Given the description of an element on the screen output the (x, y) to click on. 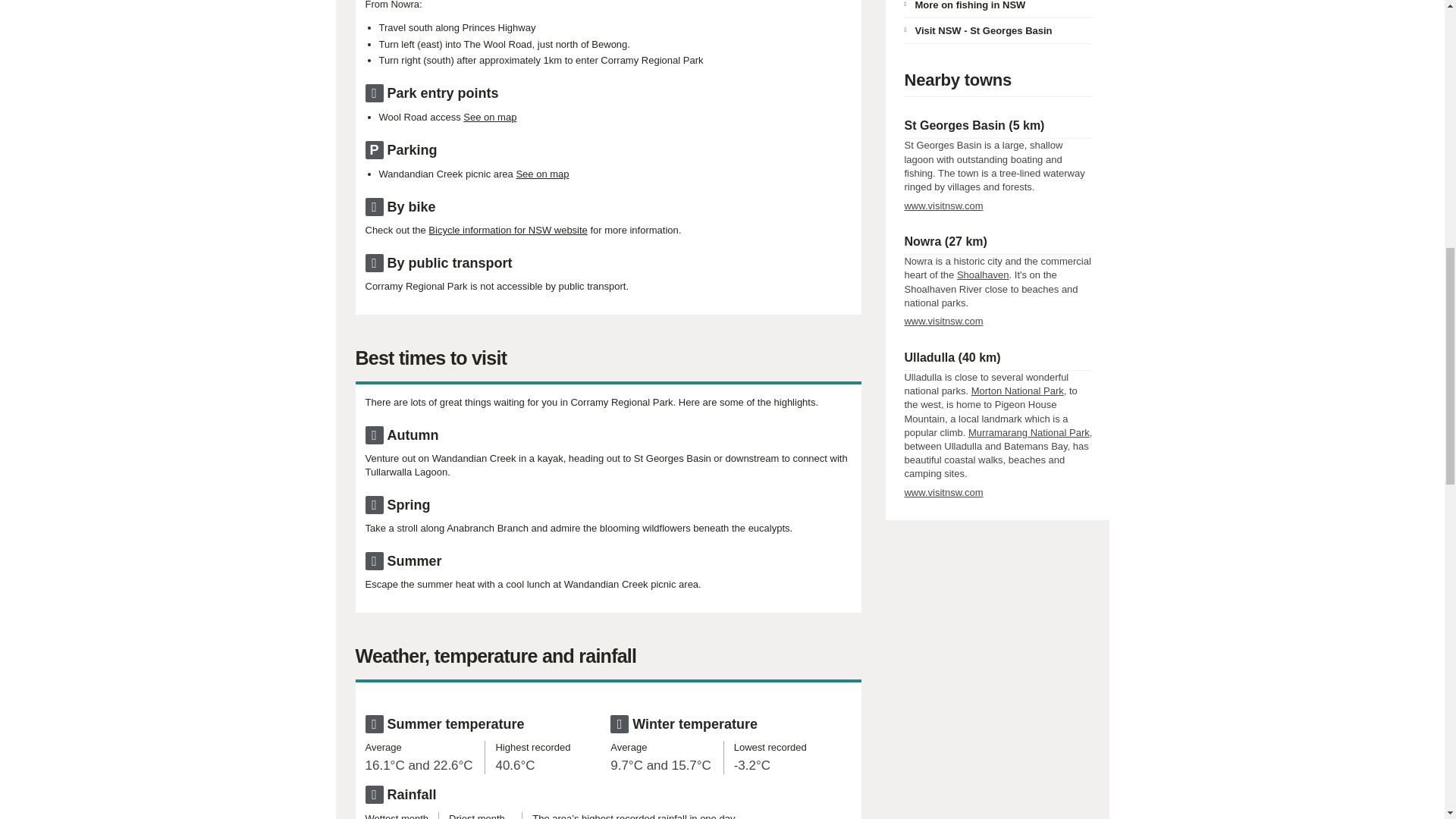
Bicycle information for NSW website (508, 229)
